Given the description of an element on the screen output the (x, y) to click on. 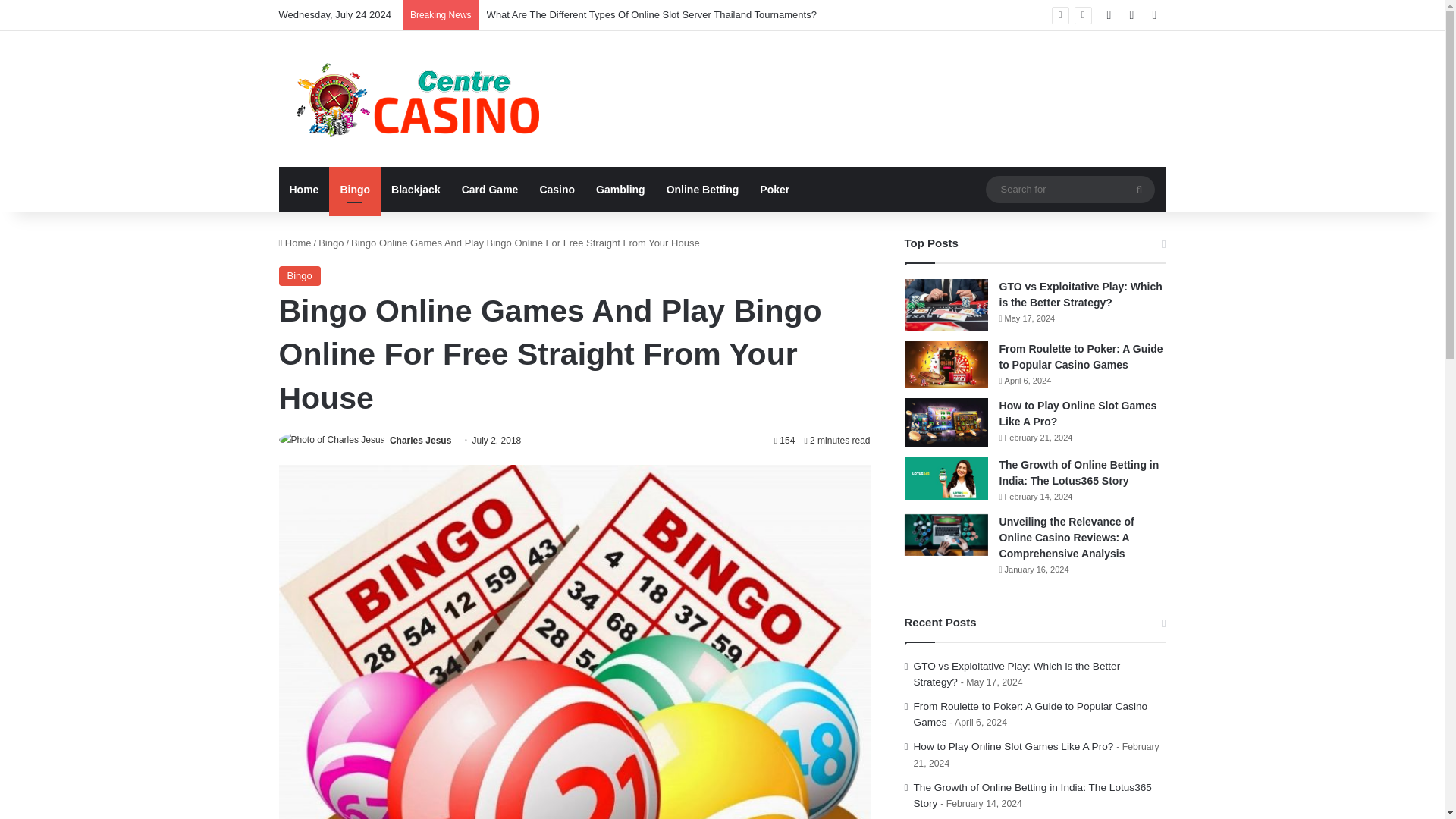
Poker (774, 189)
Log In (1109, 15)
Search for (1069, 189)
Bingo (330, 242)
Random Article (1131, 15)
Casino (556, 189)
Charles Jesus (420, 439)
Random Article (1131, 15)
Home (295, 242)
Bingo (354, 189)
Card Game (490, 189)
Search for (1139, 189)
Blackjack (415, 189)
Charles Jesus (420, 439)
